Given the description of an element on the screen output the (x, y) to click on. 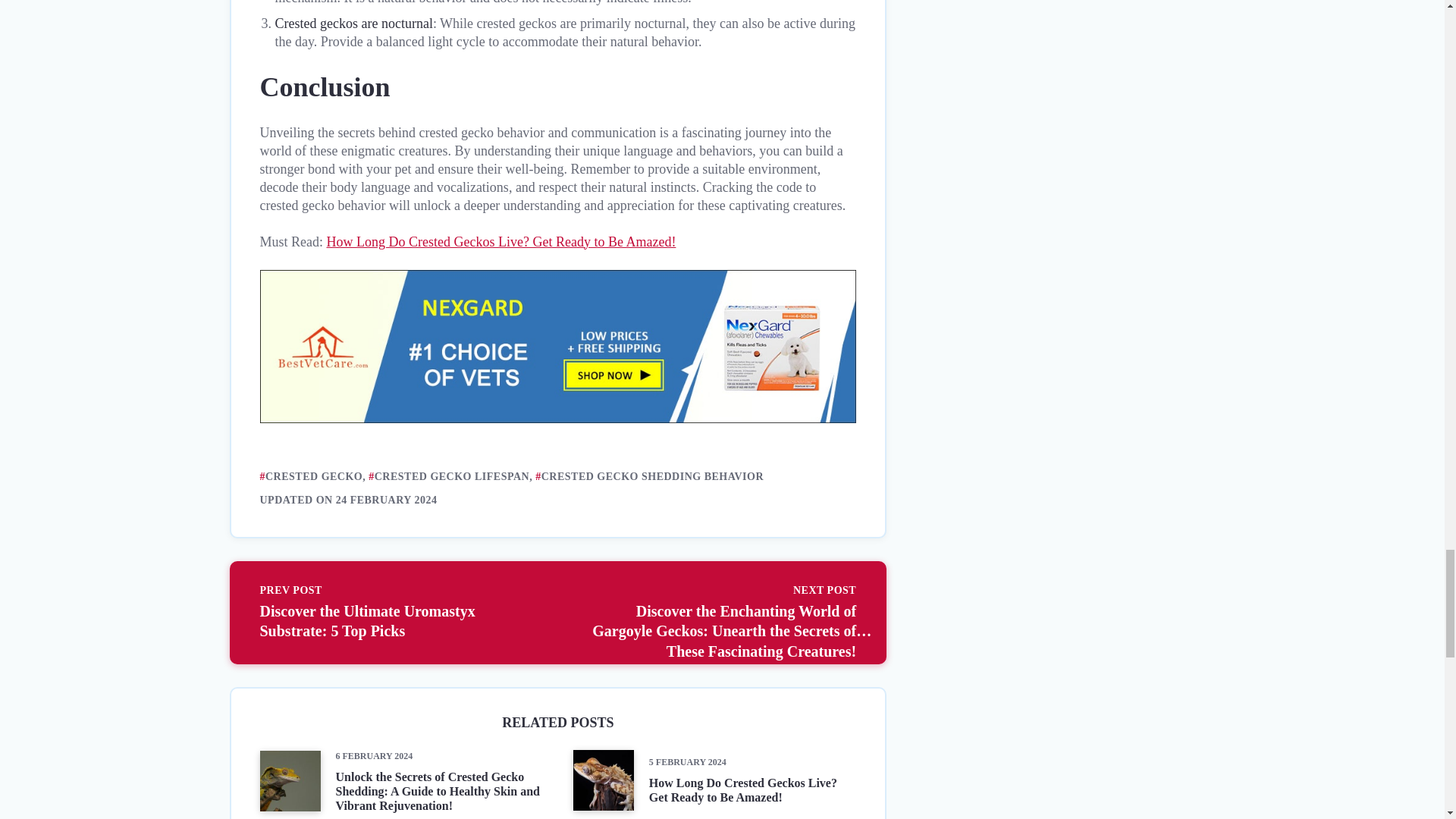
Discover the Ultimate Uromastyx Substrate: 5 Top Picks (400, 612)
